Given the description of an element on the screen output the (x, y) to click on. 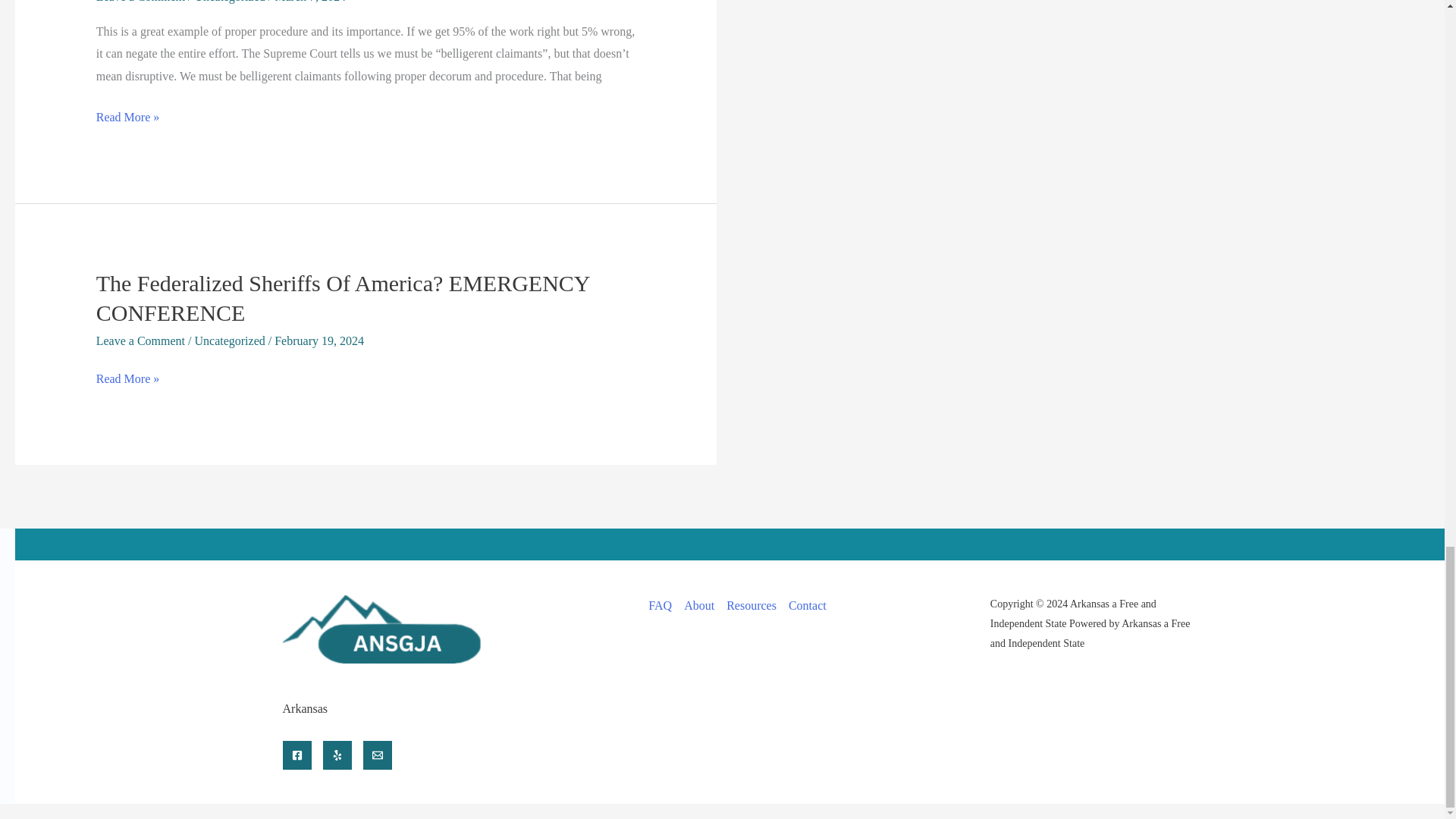
Leave a Comment (140, 1)
